Given the description of an element on the screen output the (x, y) to click on. 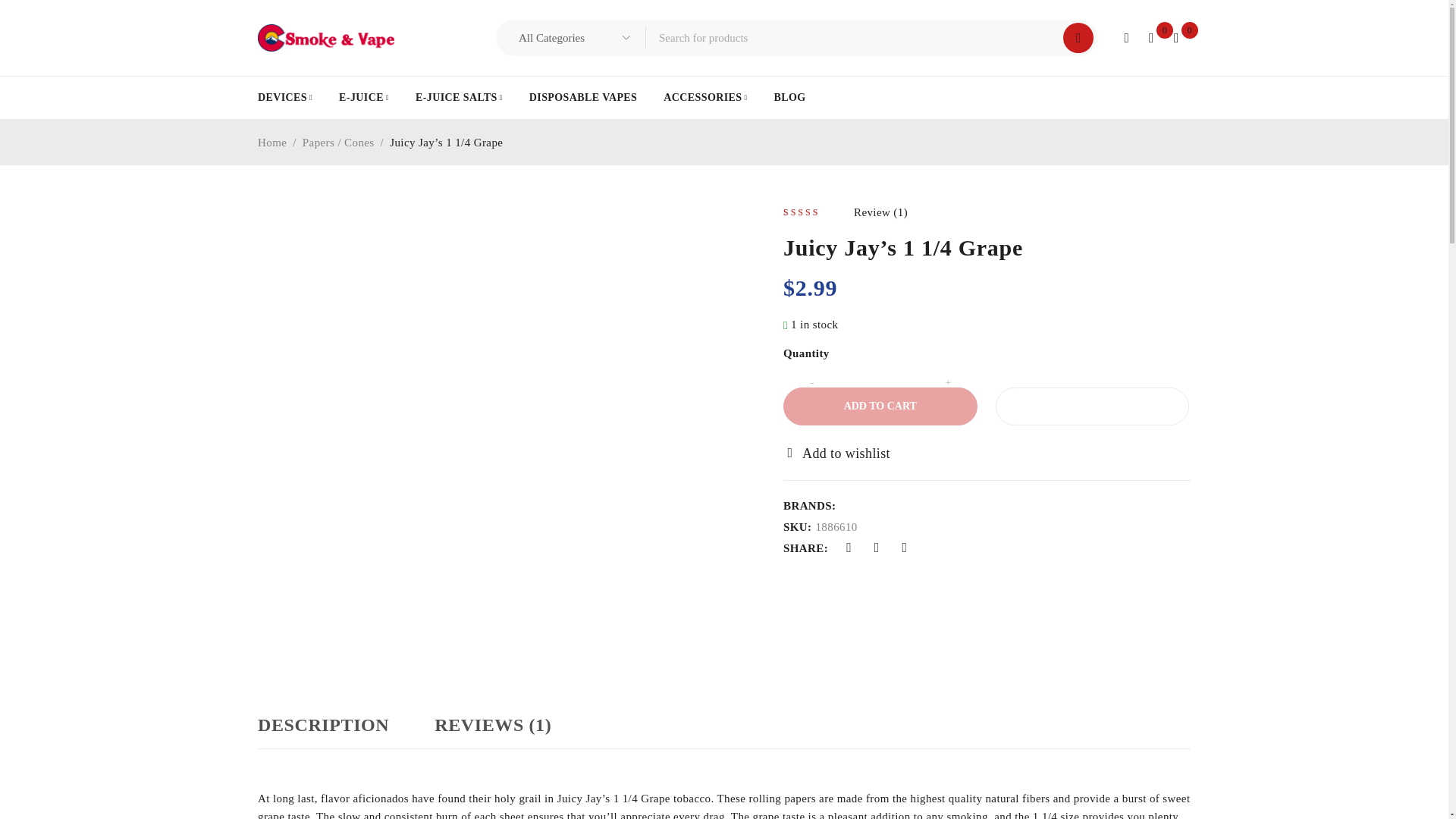
Search (1077, 37)
E-JUICE (363, 97)
Search (1077, 37)
Druco (325, 38)
- (812, 382)
DEVICES (285, 97)
E-JUICE SALTS (458, 97)
Search (1077, 37)
